Given the description of an element on the screen output the (x, y) to click on. 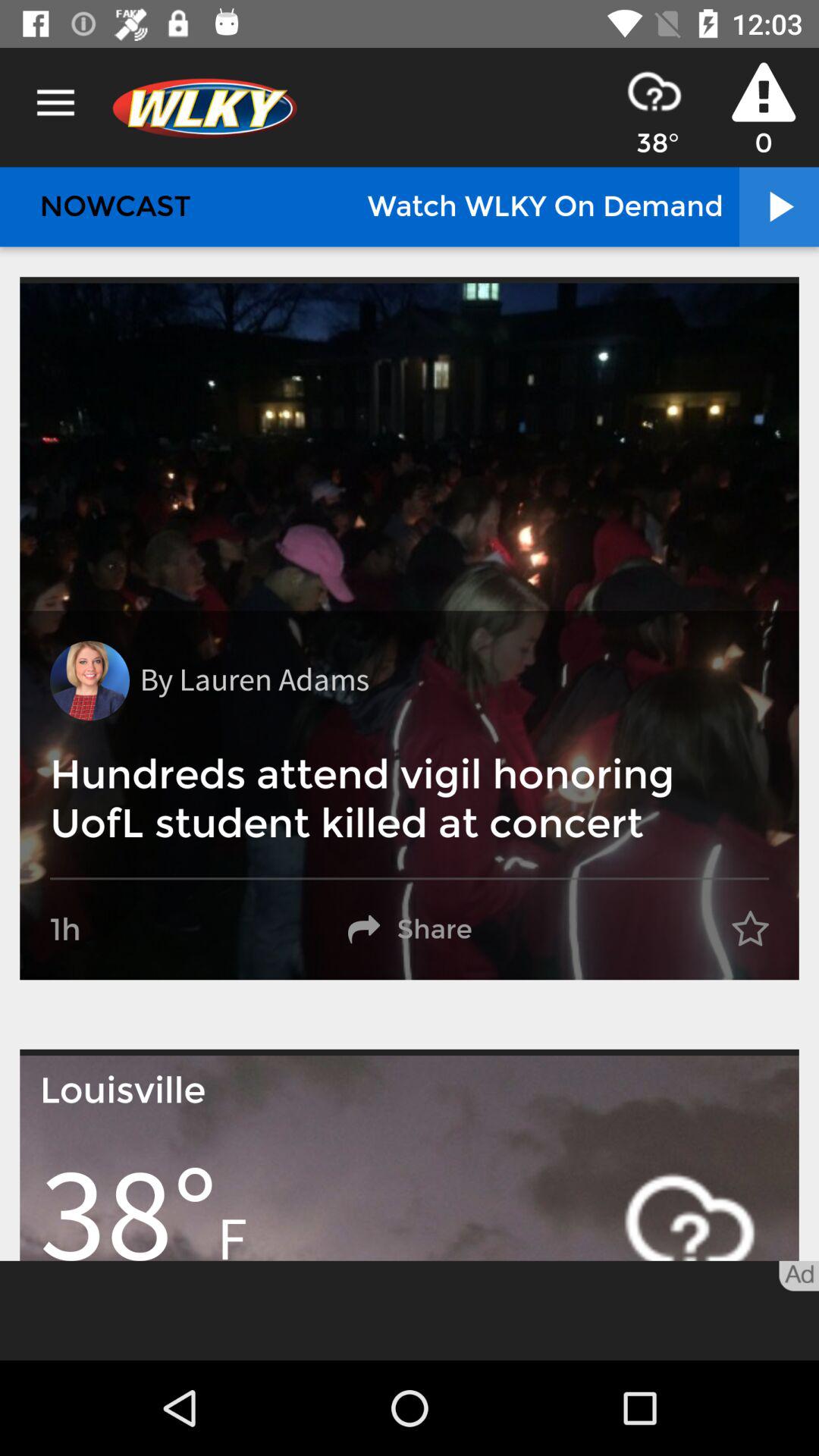
launch icon above hundreds attend vigil item (254, 680)
